Given the description of an element on the screen output the (x, y) to click on. 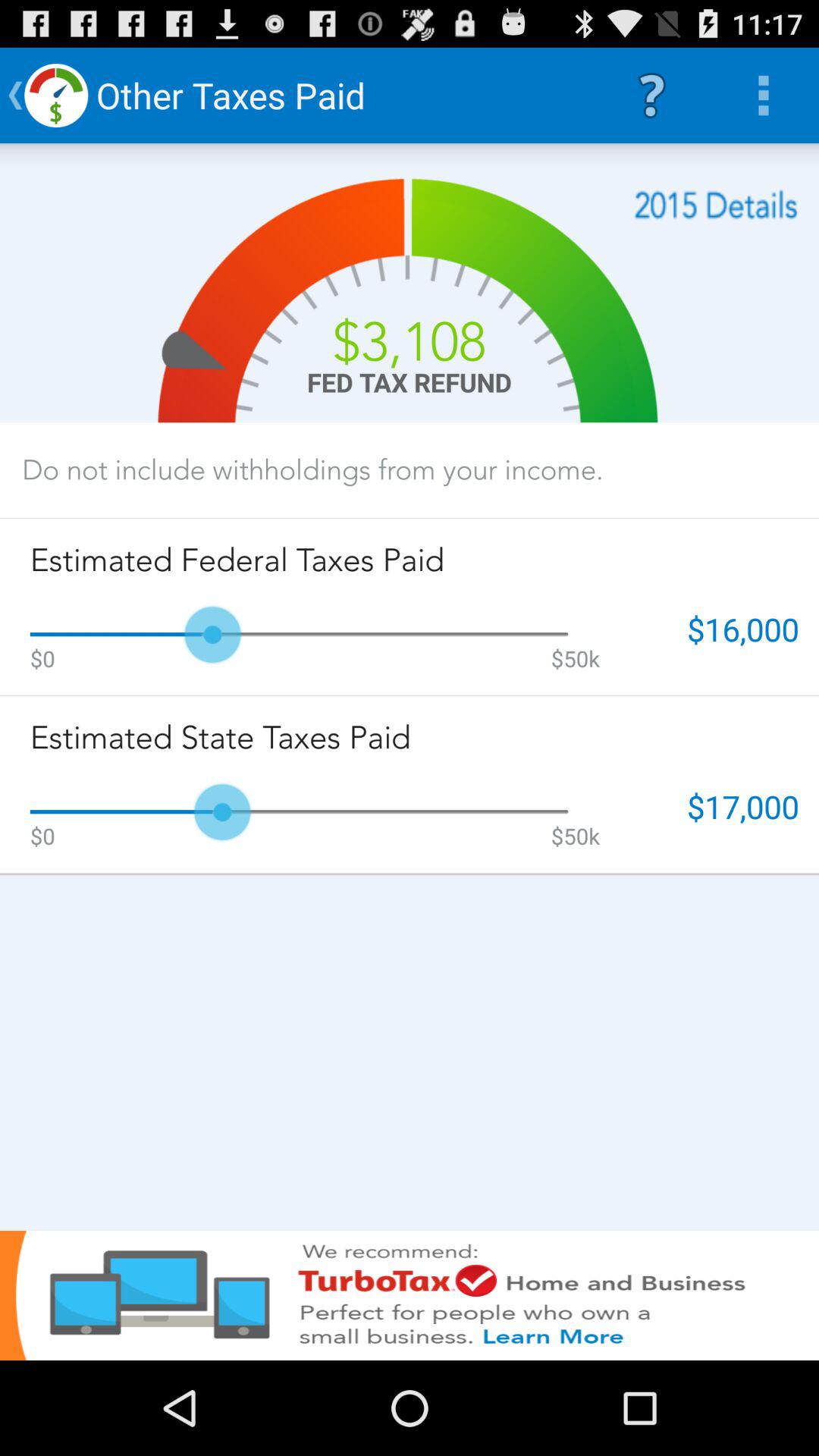
launch the do not include item (312, 469)
